Given the description of an element on the screen output the (x, y) to click on. 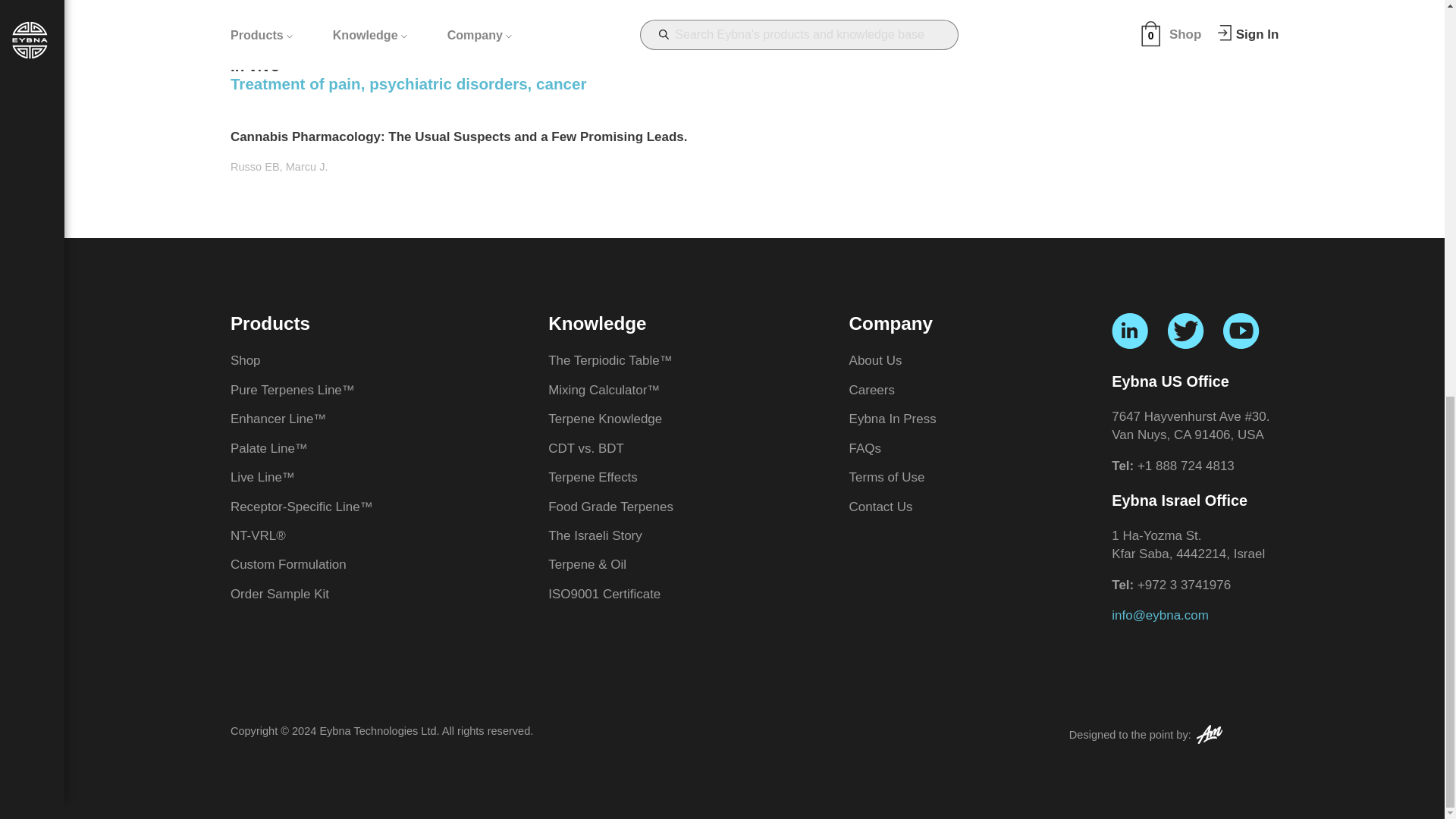
Order Sample Kit (279, 594)
Custom Formulation (288, 564)
Shop (245, 359)
